Given the description of an element on the screen output the (x, y) to click on. 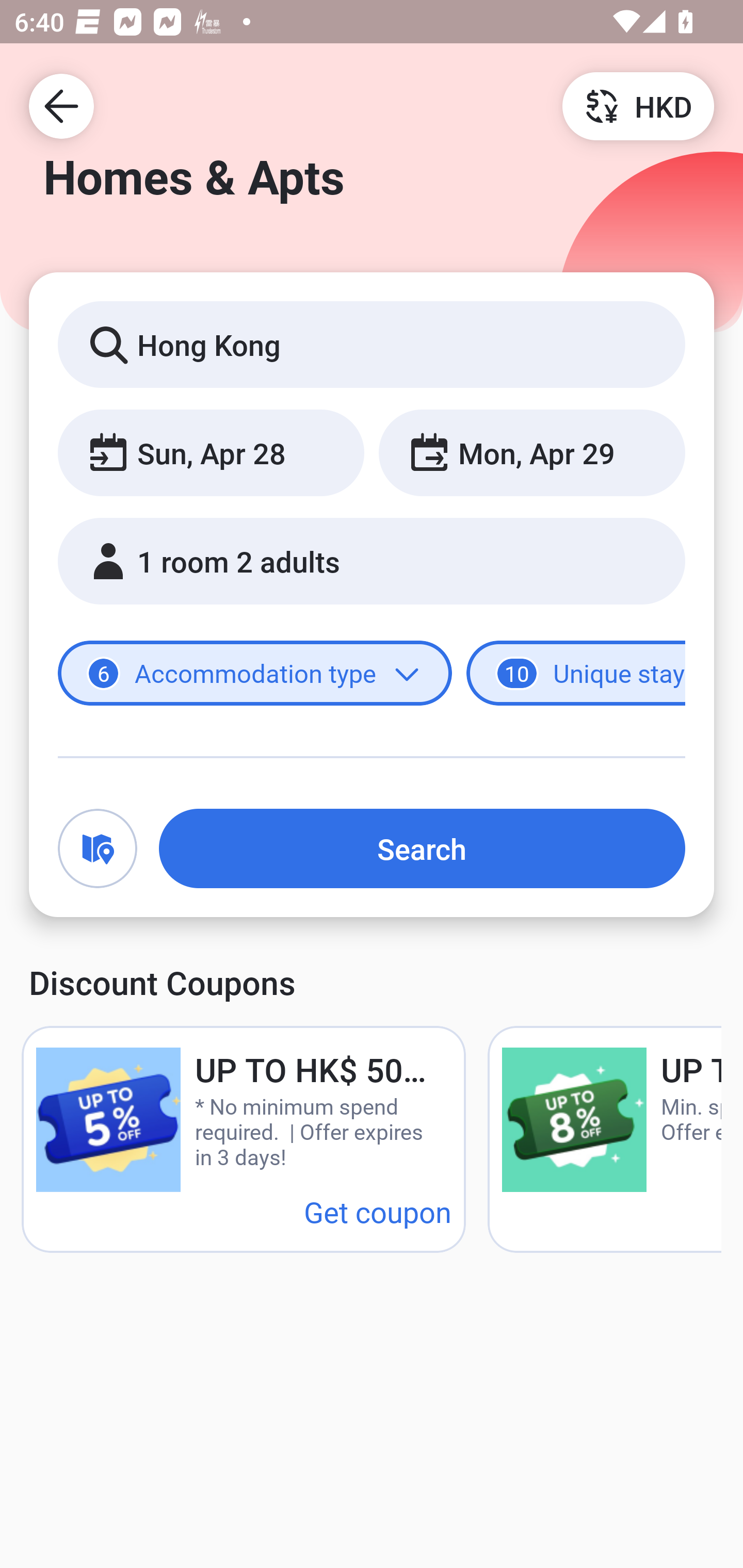
HKD (638, 105)
Hong Kong (371, 344)
Sun, Apr 28 (210, 452)
Mon, Apr 29 (531, 452)
1 room 2 adults (371, 561)
6 Accommodation type (254, 673)
10 Unique stays (575, 673)
Search (422, 848)
Get coupon (377, 1211)
